Given the description of an element on the screen output the (x, y) to click on. 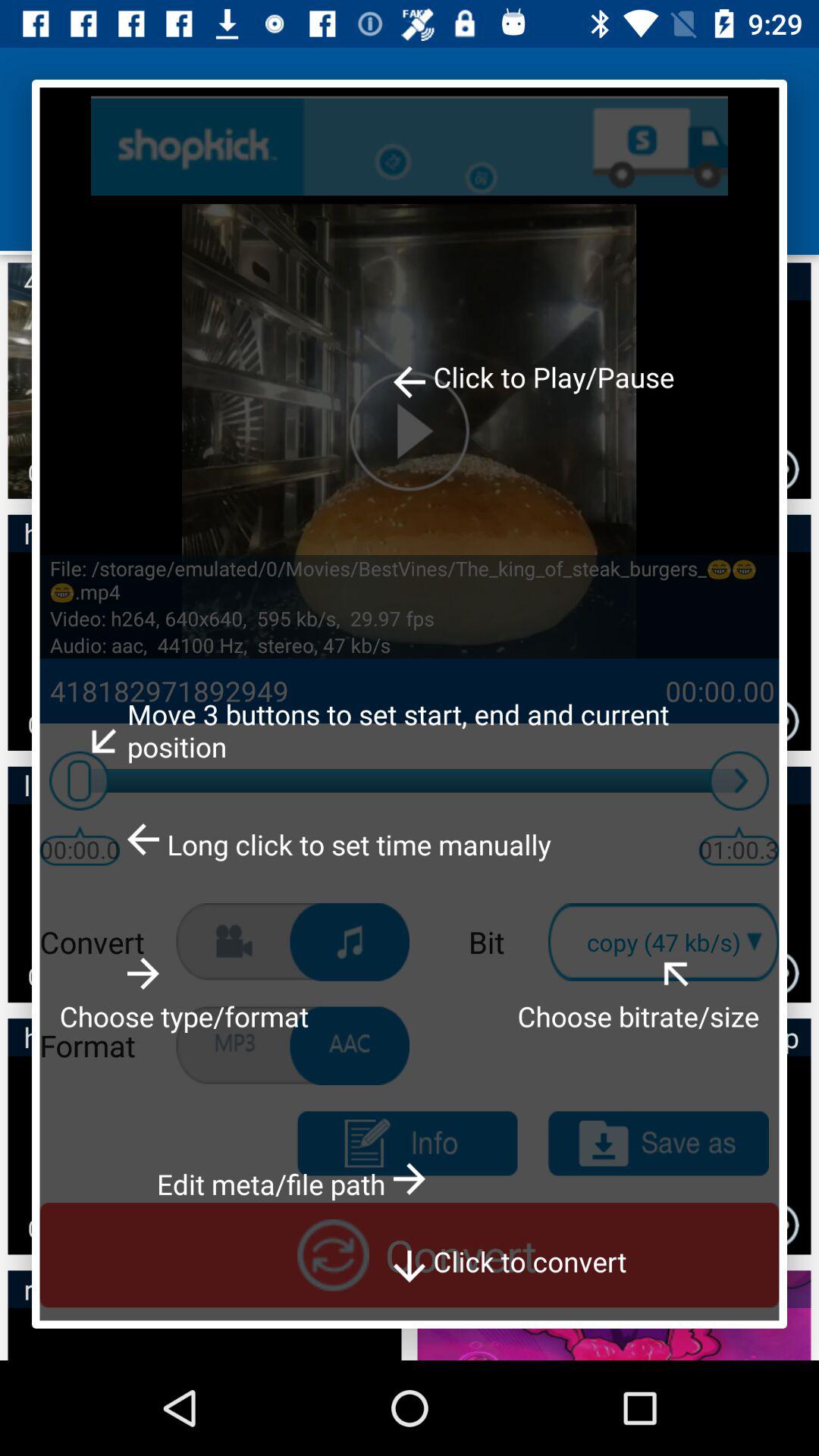
do save as (657, 1143)
